Given the description of an element on the screen output the (x, y) to click on. 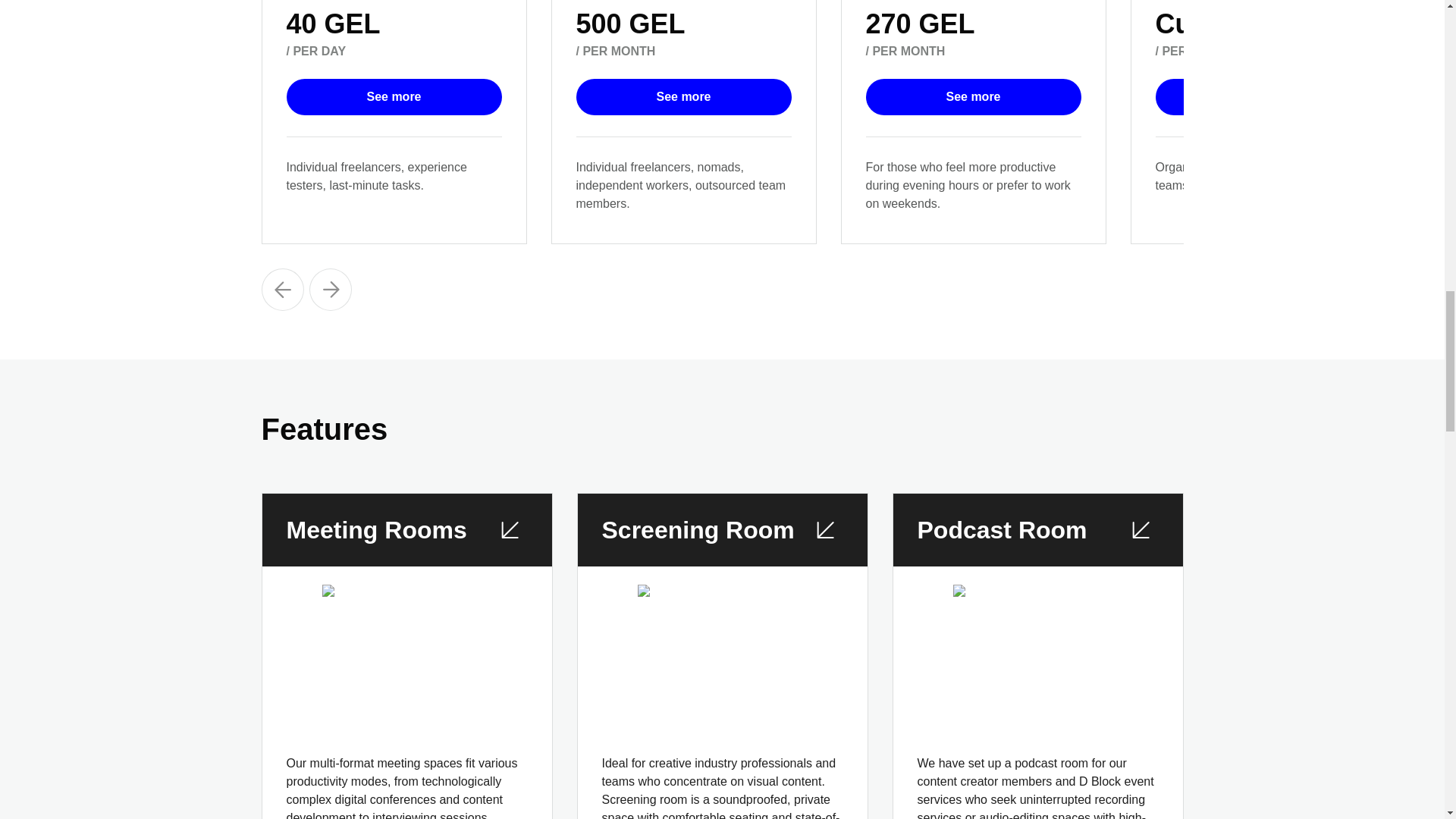
See more (684, 96)
See more (973, 96)
See more (394, 96)
See more (1263, 96)
